Given the description of an element on the screen output the (x, y) to click on. 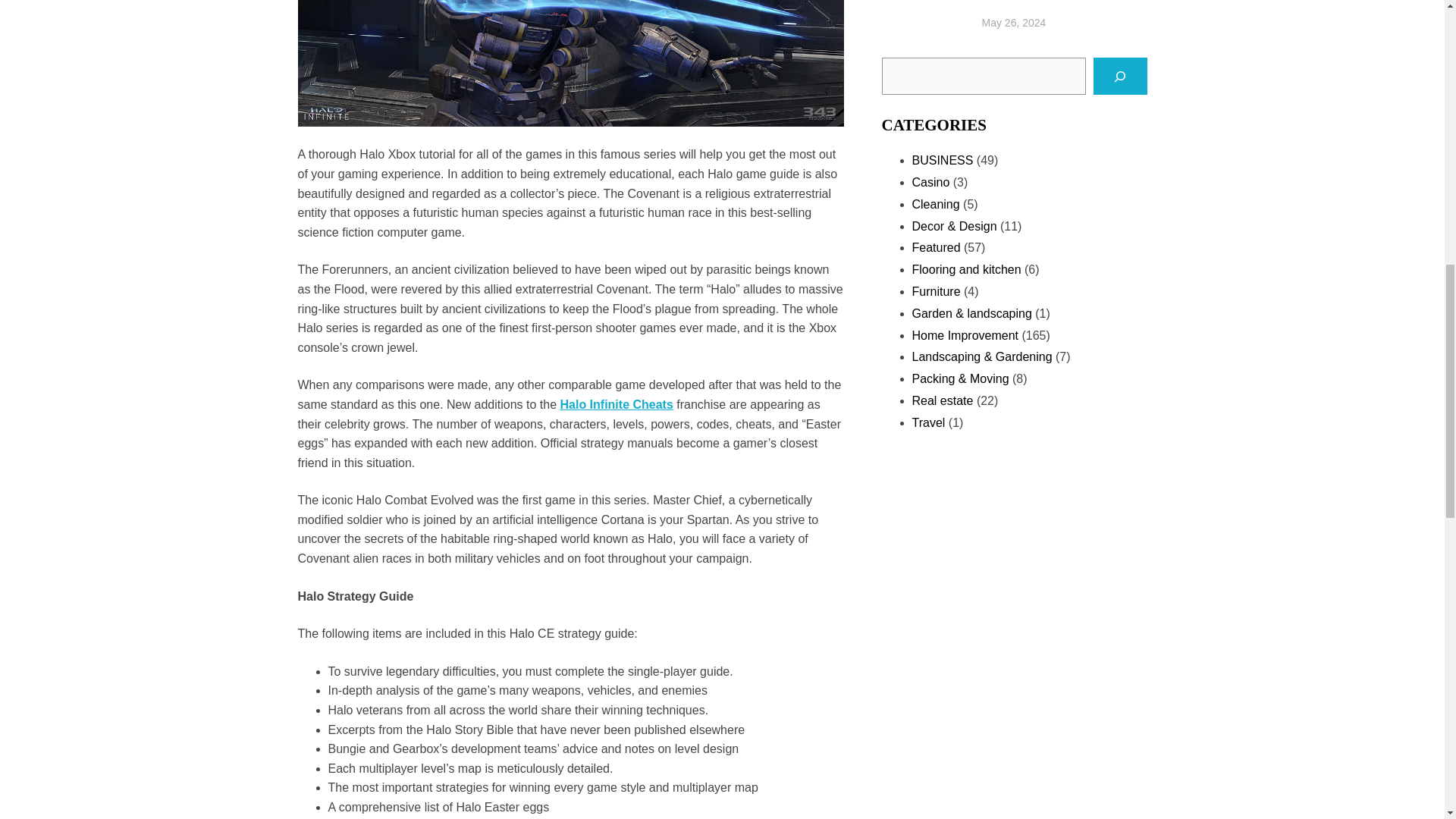
Furniture (935, 291)
Travel (927, 422)
Halo Infinite Cheats (615, 404)
Real estate (941, 400)
Cleaning (935, 204)
Featured (935, 246)
May 26, 2024 (1013, 22)
Casino (930, 182)
BUSINESS (941, 160)
Flooring and kitchen (965, 269)
Home Improvement (964, 335)
